Given the description of an element on the screen output the (x, y) to click on. 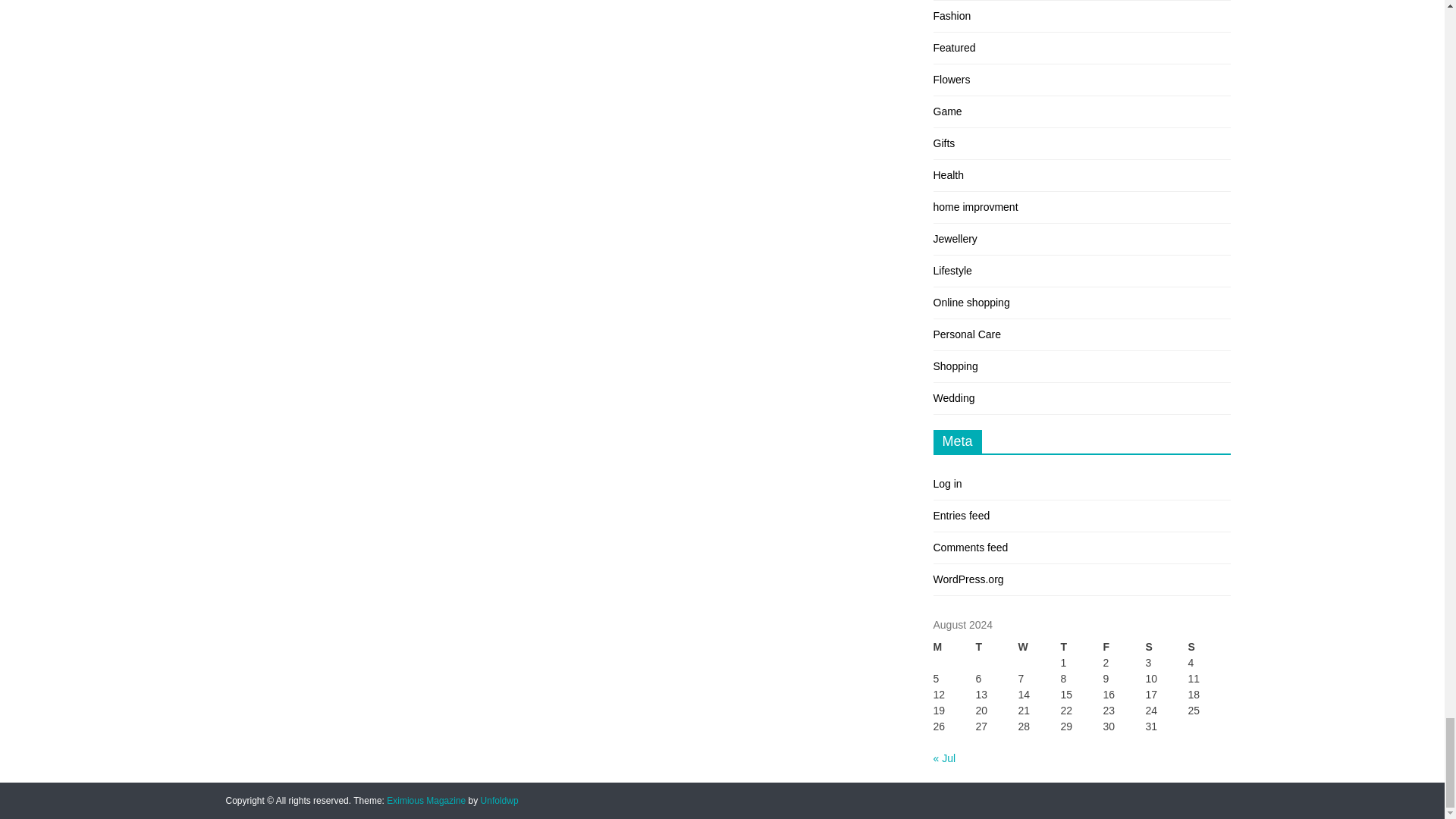
Friday (1123, 647)
Monday (954, 647)
Thursday (1080, 647)
Sunday (1209, 647)
Saturday (1166, 647)
Tuesday (996, 647)
Wednesday (1038, 647)
